Given the description of an element on the screen output the (x, y) to click on. 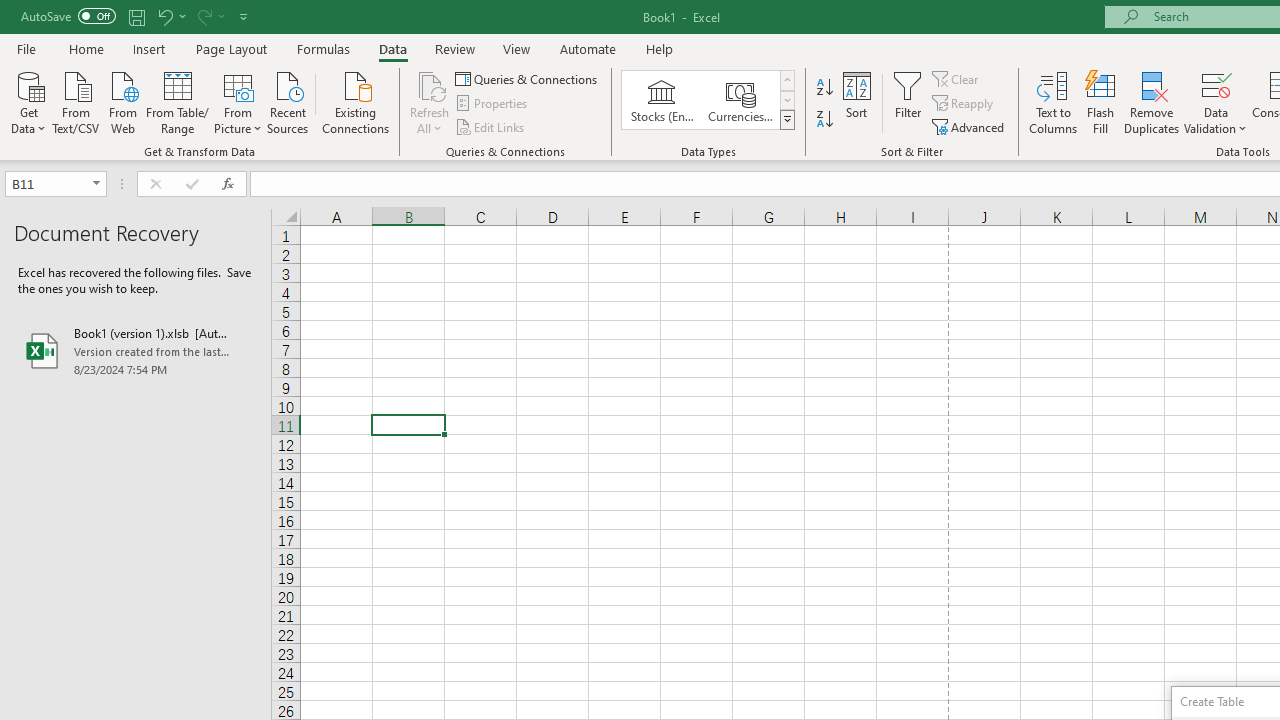
Page Layout (230, 48)
Redo (203, 15)
Refresh All (429, 102)
Data Types (786, 120)
Save (136, 15)
Help (660, 48)
Name Box (46, 183)
Reapply (964, 103)
From Text/CSV (75, 101)
Data Validation... (1215, 102)
Name Box (56, 183)
Open (96, 183)
Get Data (28, 101)
Advanced... (970, 126)
